Given the description of an element on the screen output the (x, y) to click on. 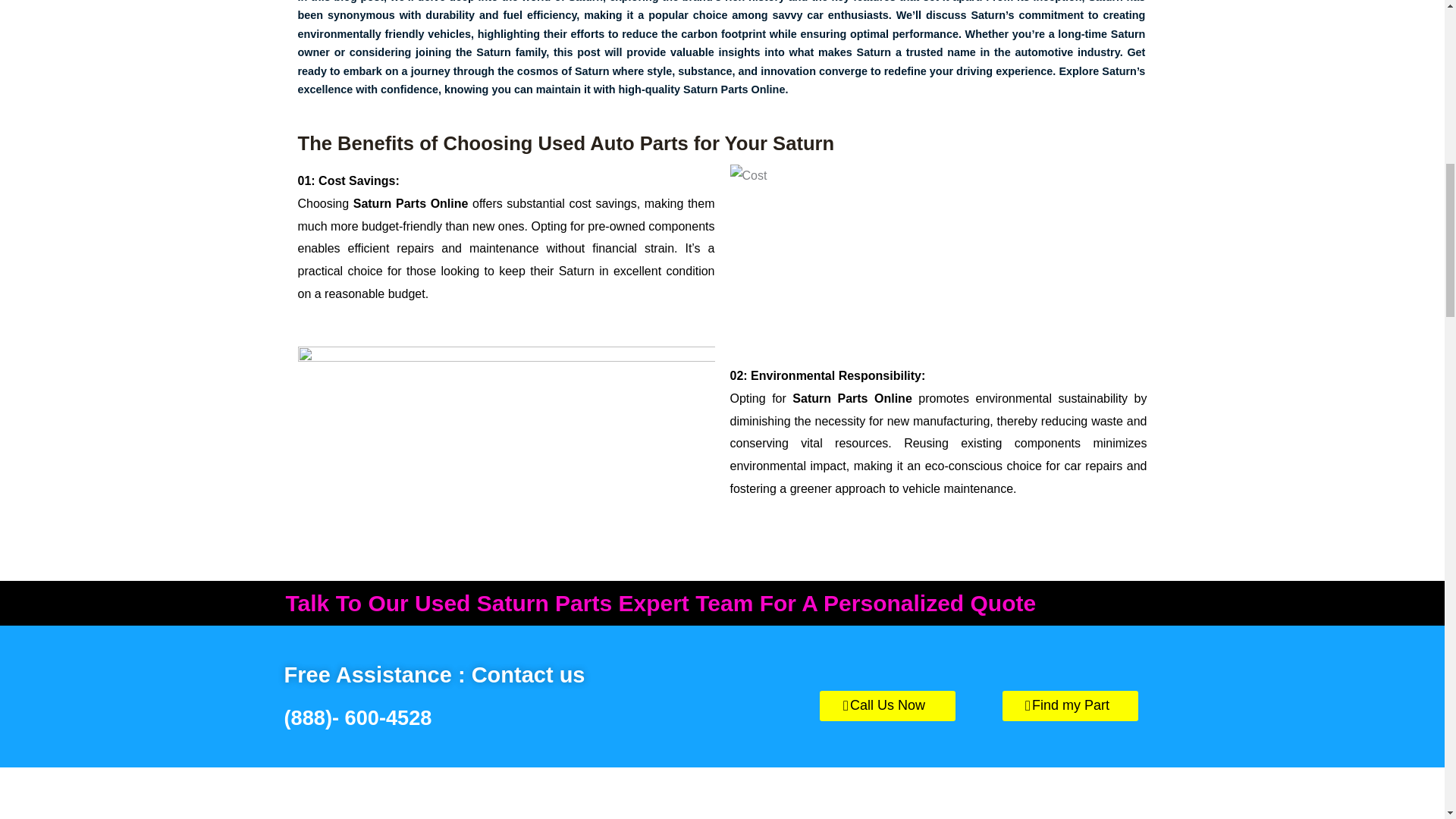
Call Us Now (887, 706)
Find my Part (1070, 706)
